Given the description of an element on the screen output the (x, y) to click on. 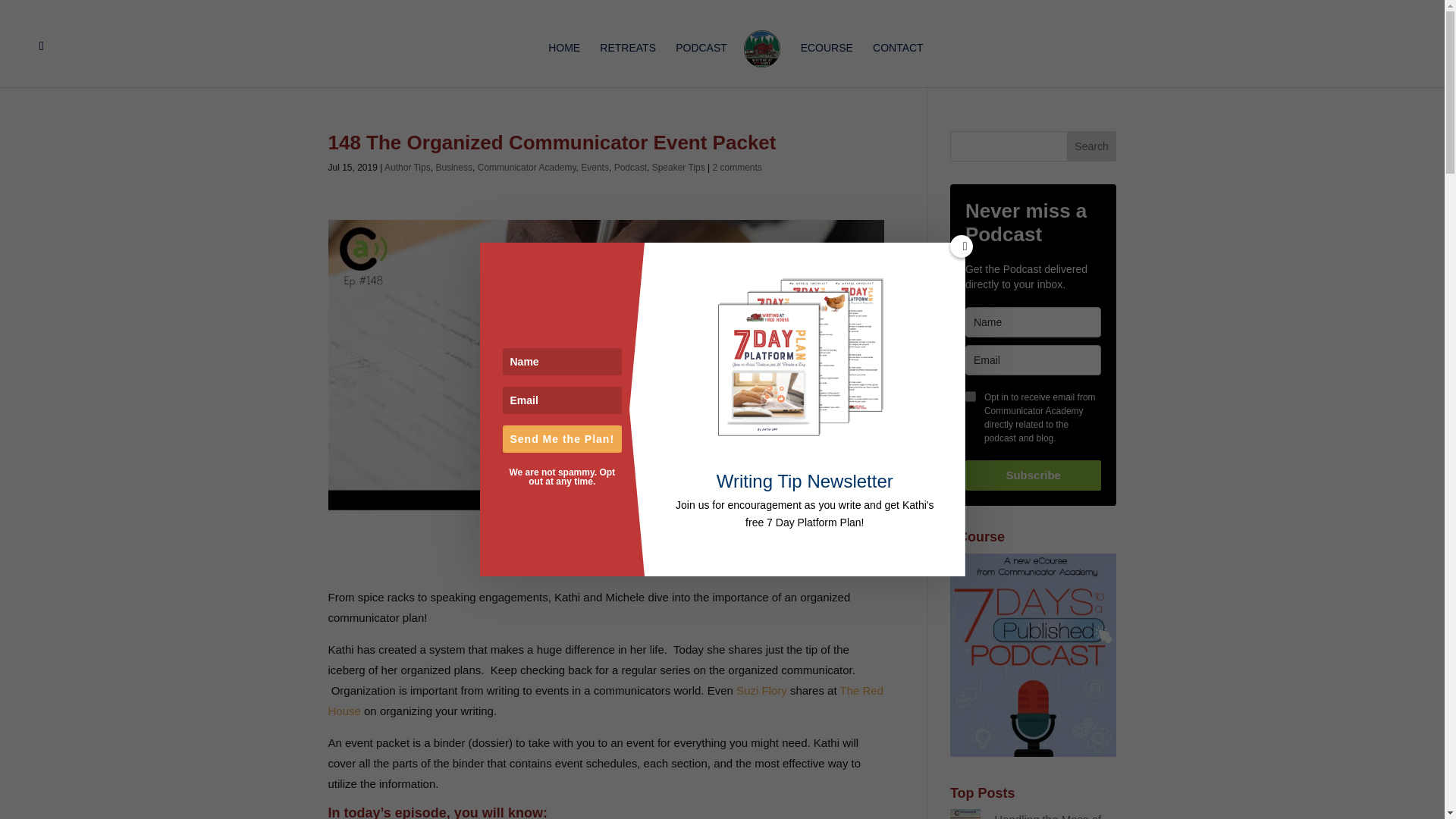
Podcast (630, 167)
RETREATS (627, 64)
Business (453, 167)
PODCAST (700, 64)
2 comments (737, 167)
The Red House (605, 700)
ECOURSE (826, 64)
Author Tips (407, 167)
Events (594, 167)
Communicator Academy (526, 167)
Suzi Flory (761, 689)
Search (1091, 146)
CONTACT (897, 64)
Speaker Tips (678, 167)
